Given the description of an element on the screen output the (x, y) to click on. 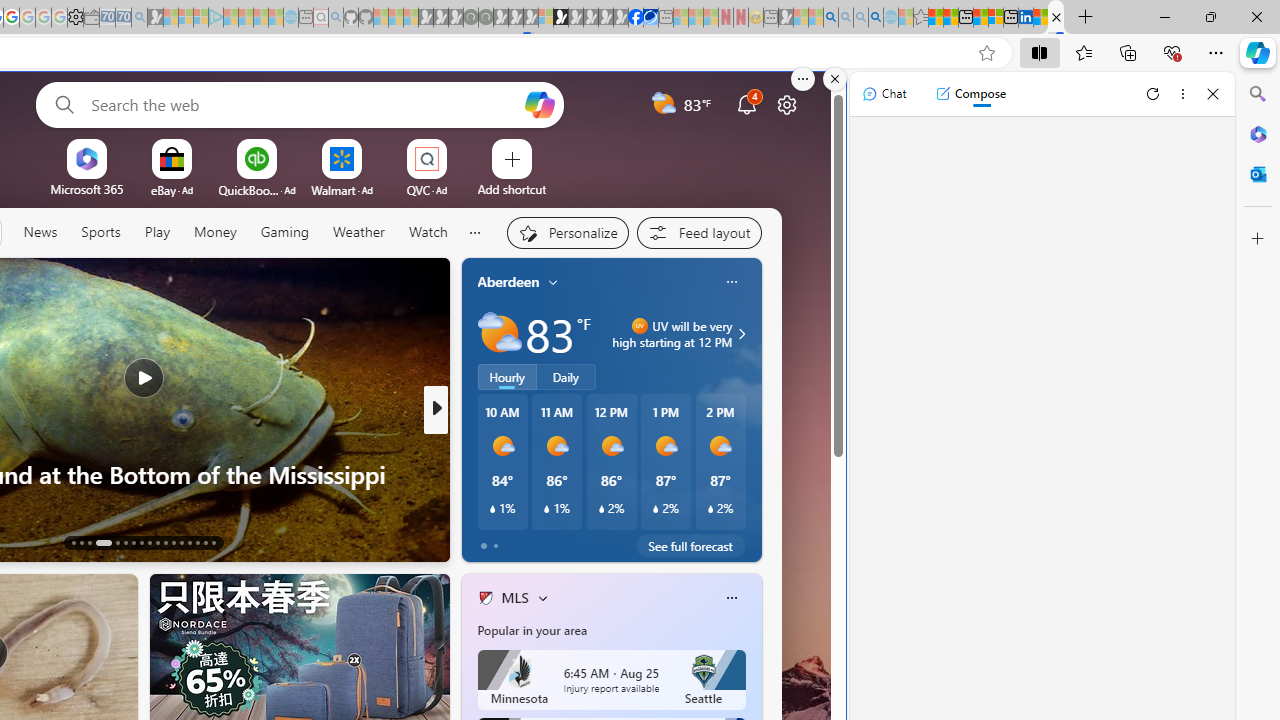
Hourly (507, 377)
How to Turn Off Copilot in Windows 11 (758, 506)
AutomationID: tab-23 (165, 542)
Nordace | Facebook (635, 17)
Which foods have the most plastics? You may be surprised (758, 489)
AutomationID: tab-19 (133, 542)
